Given the description of an element on the screen output the (x, y) to click on. 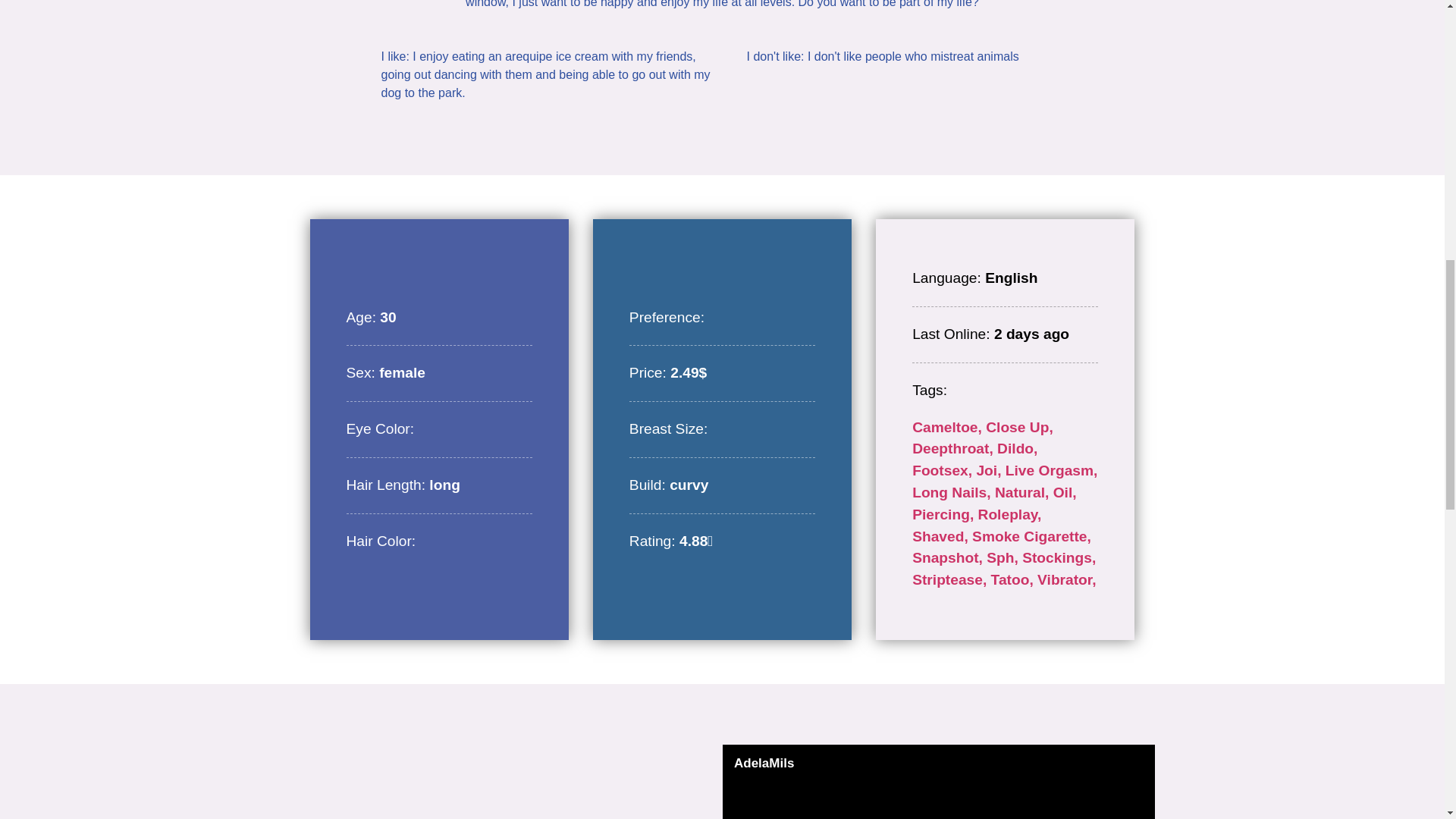
Deepthroat (954, 448)
Cameltoe (948, 426)
Close Up (1018, 426)
